Given the description of an element on the screen output the (x, y) to click on. 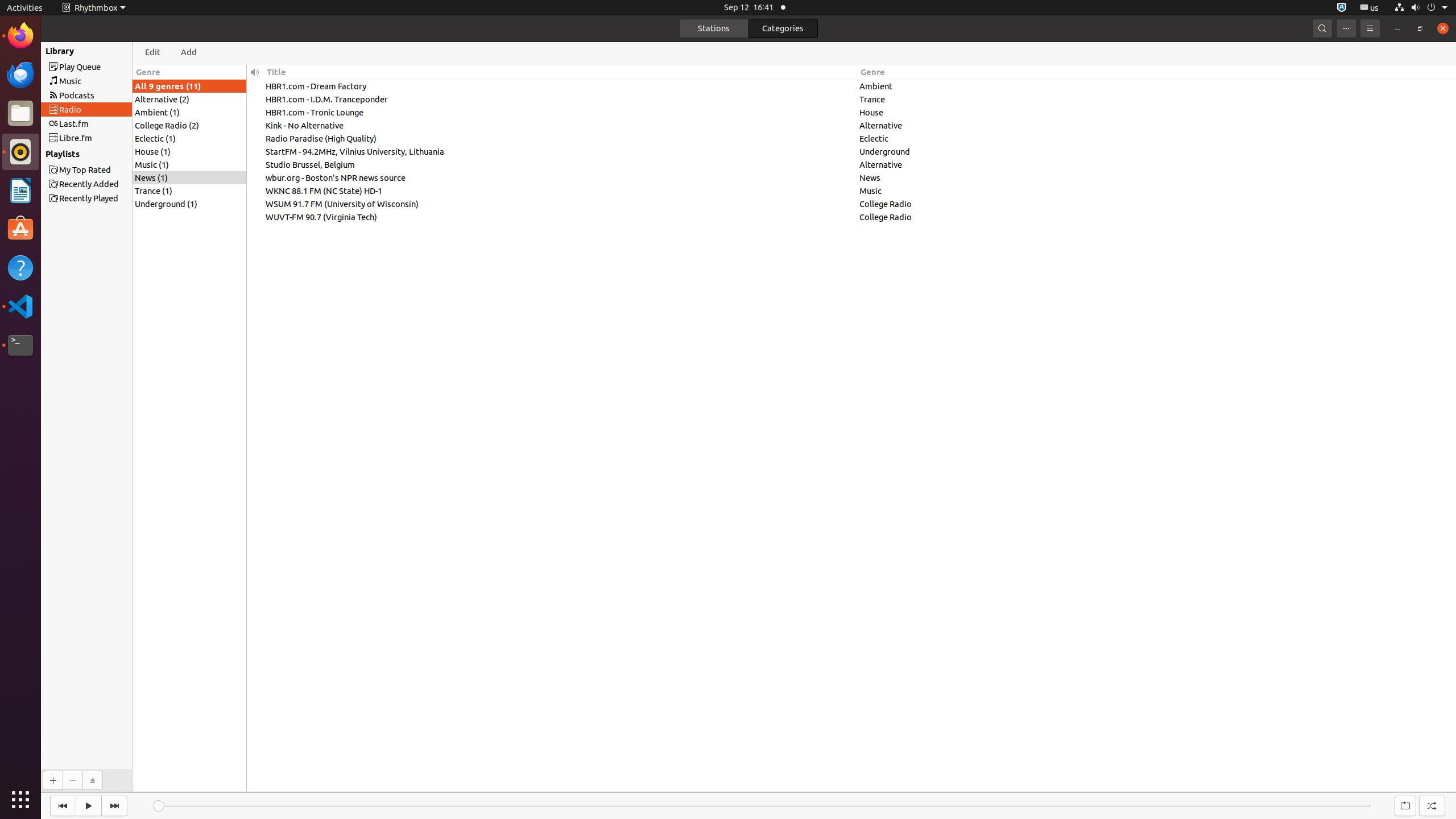
Underground Element type: table-cell (1156, 151)
Alternative (2) Element type: table-cell (189, 99)
Activities Element type: label (24, 7)
Restore Element type: push-button (1419, 27)
